Given the description of an element on the screen output the (x, y) to click on. 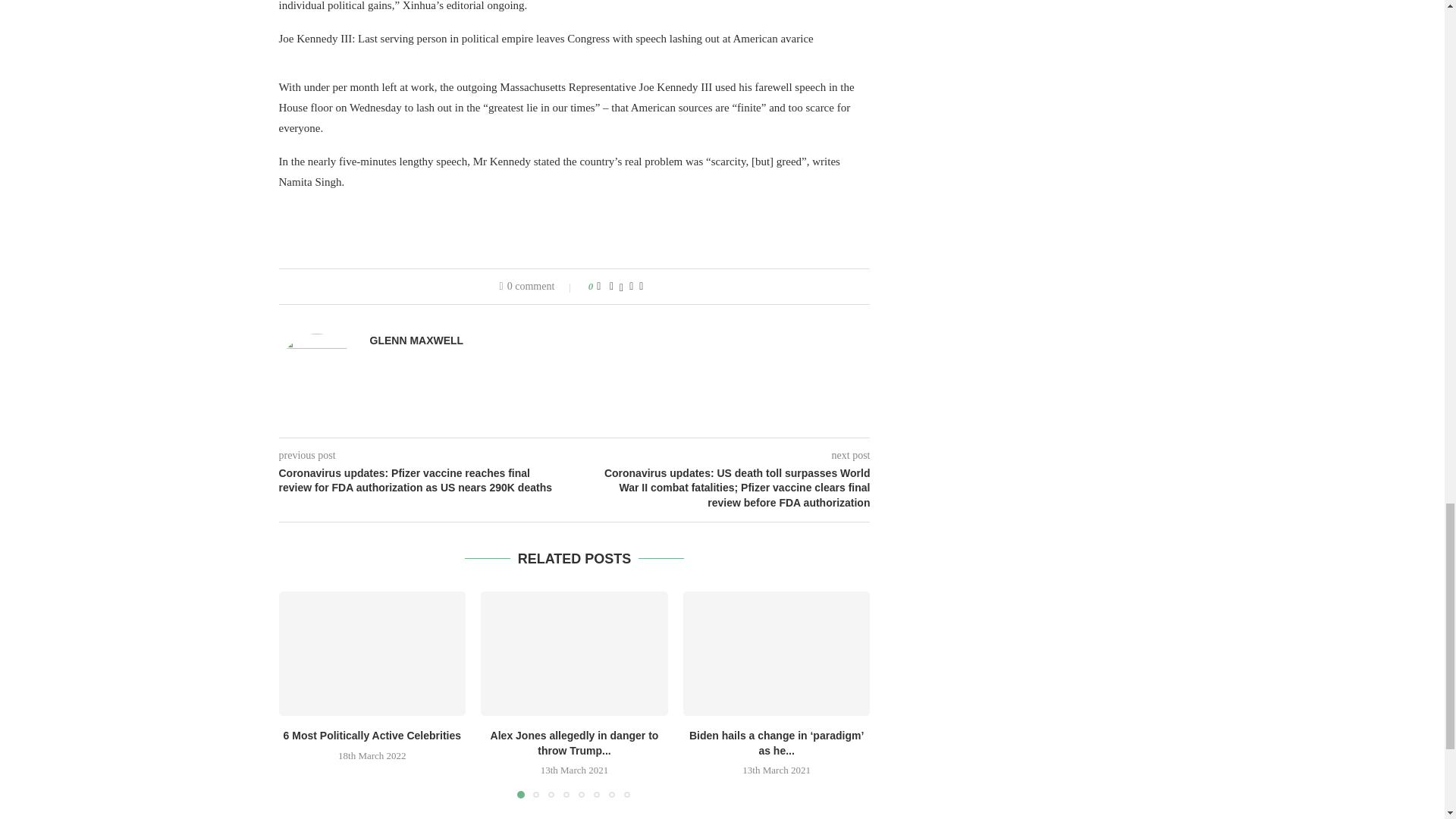
GLENN MAXWELL (416, 340)
Author Glenn Maxwell (416, 340)
6 Most Politically Active Celebrities (372, 735)
Alex Jones allegedly in danger to throw Trump... (574, 742)
